Given the description of an element on the screen output the (x, y) to click on. 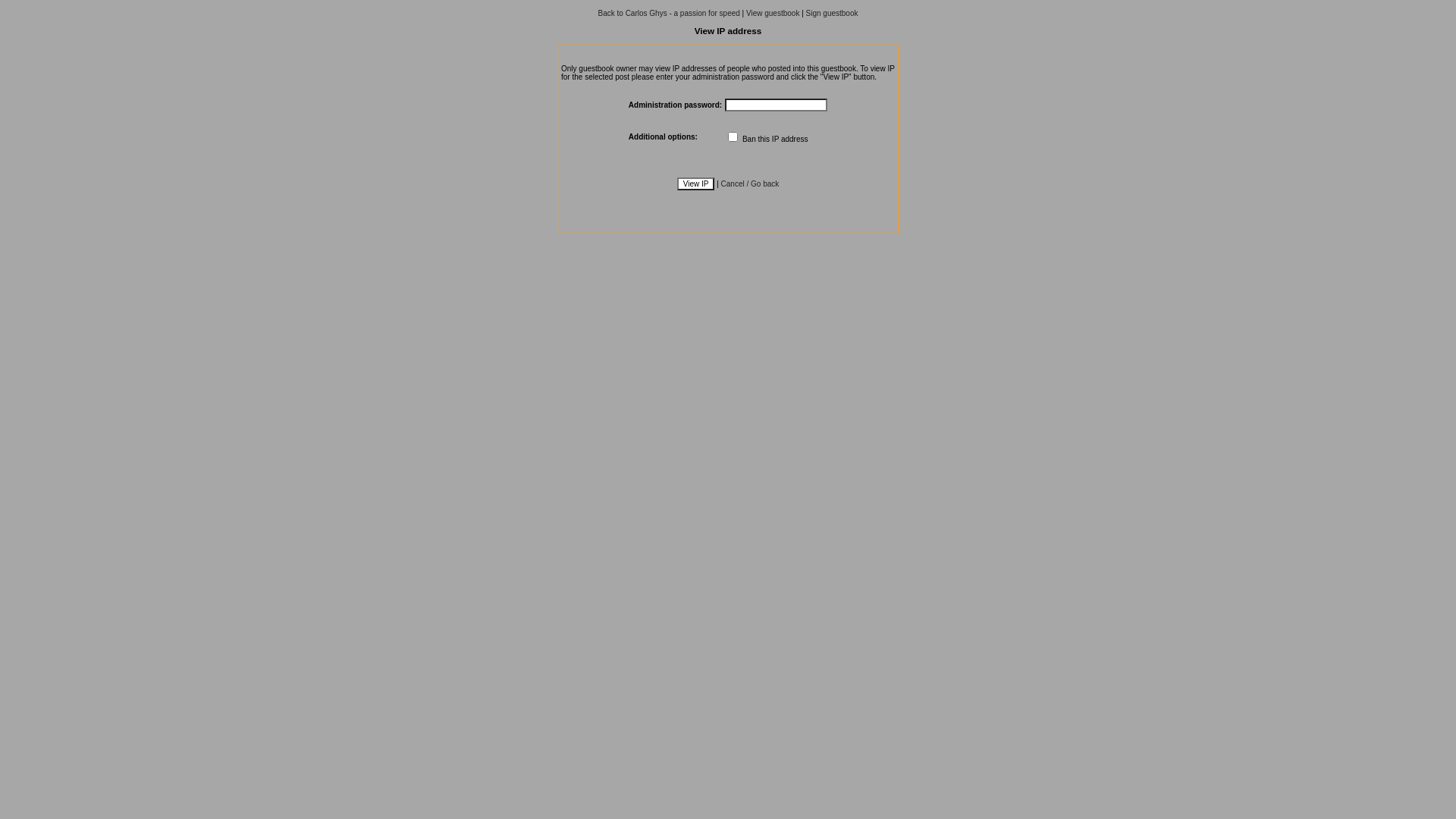
View IP Element type: text (696, 183)
Sign guestbook Element type: text (832, 13)
Cancel / Go back Element type: text (750, 183)
Back to Carlos Ghys - a passion for speed Element type: text (668, 13)
View guestbook Element type: text (772, 13)
